Given the description of an element on the screen output the (x, y) to click on. 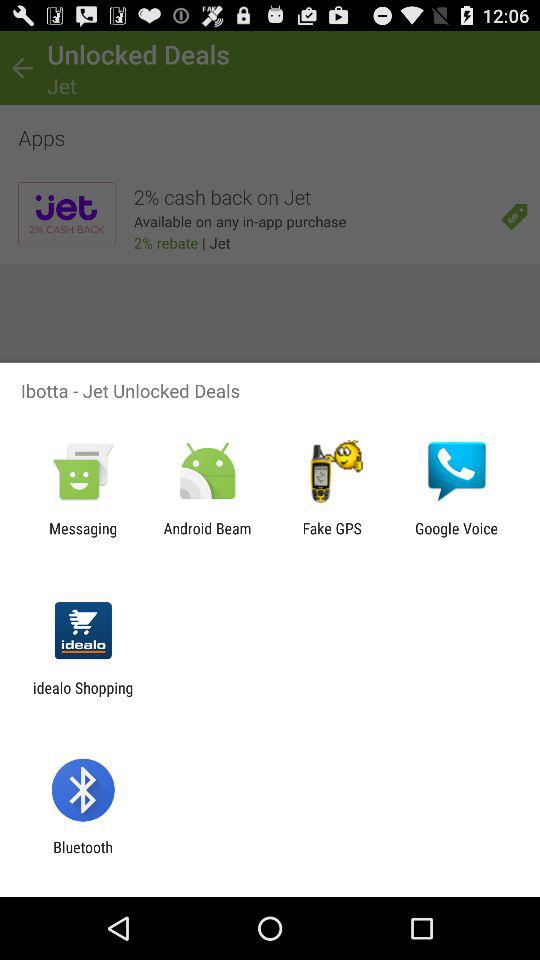
turn off the idealo shopping (83, 696)
